Given the description of an element on the screen output the (x, y) to click on. 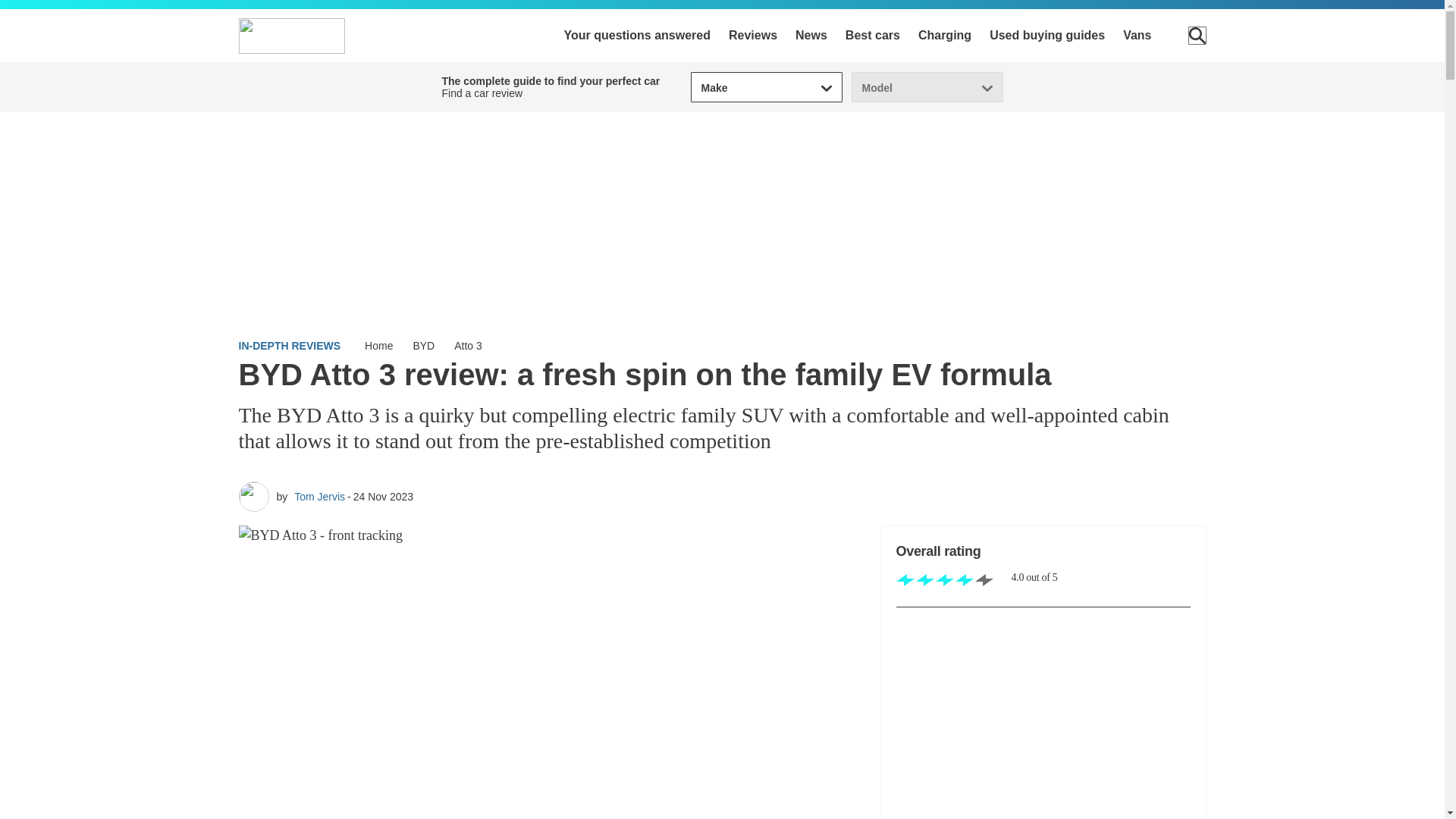
Used buying guides (1047, 35)
SEARCH (1196, 35)
Search (1196, 35)
Best cars (872, 35)
Reviews (753, 35)
4 Stars (944, 581)
Your questions answered (636, 35)
Charging (944, 35)
